Given the description of an element on the screen output the (x, y) to click on. 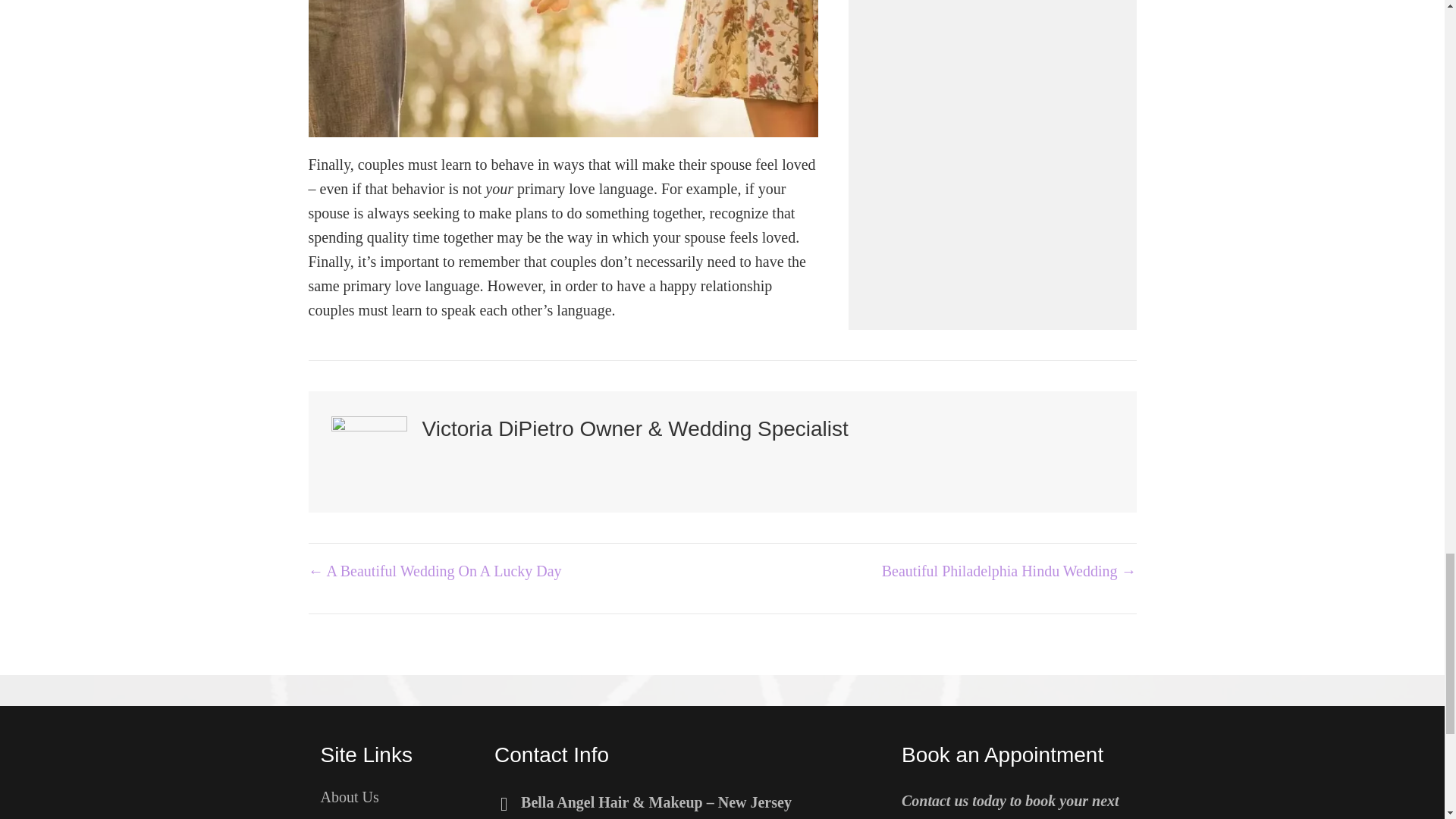
Galleries (594, 816)
About Us (347, 817)
